Given the description of an element on the screen output the (x, y) to click on. 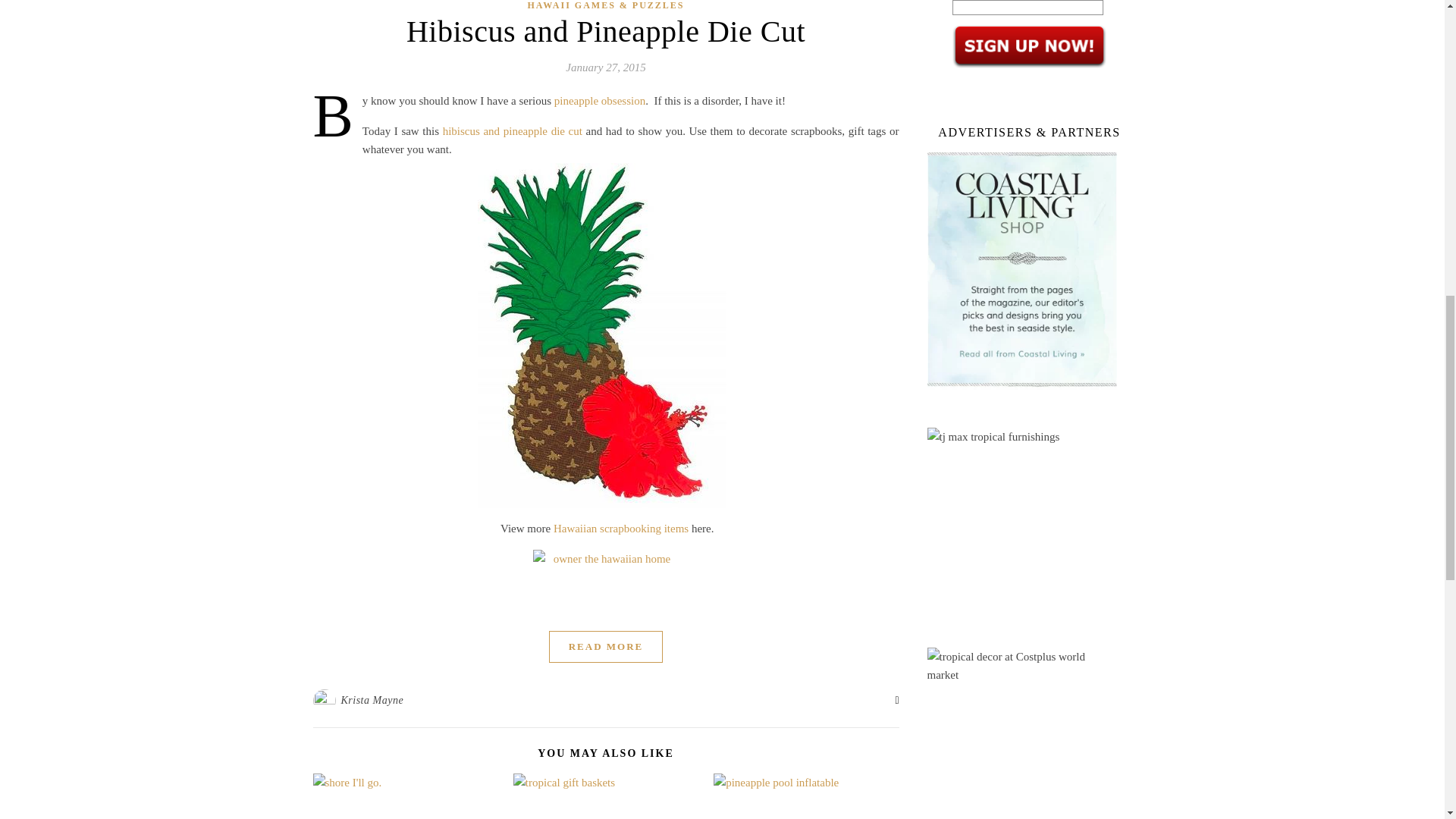
hibiscus and pineapple die cut (512, 131)
Krista Mayne (372, 700)
Posts by Krista Mayne (372, 700)
Hawaiian scrapbooking items (620, 528)
Hibiscus and Pineapple Die Cut (605, 31)
READ MORE (605, 646)
pineapple obsession (599, 101)
